Given the description of an element on the screen output the (x, y) to click on. 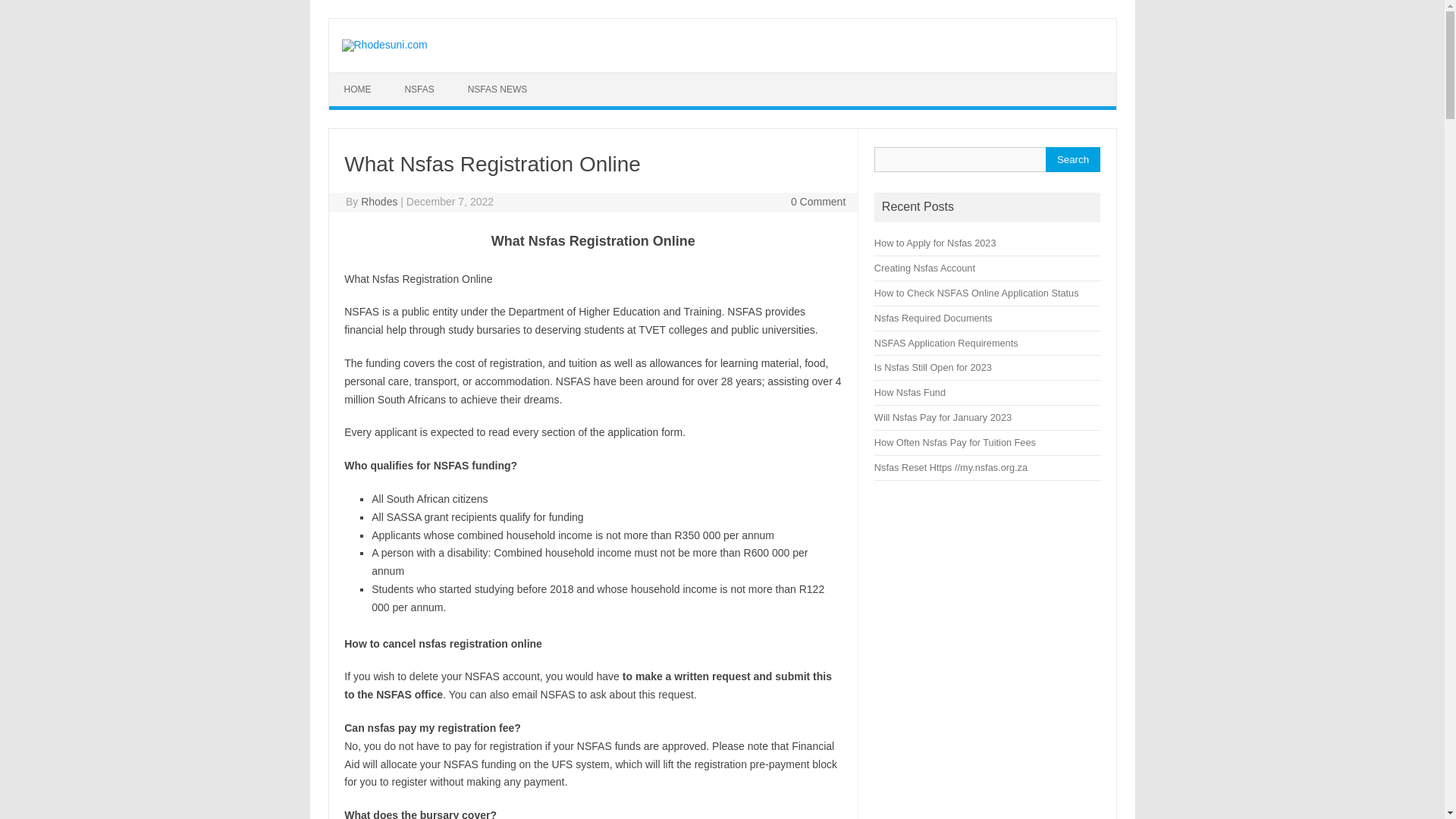
Rhodes (379, 201)
Rhodesuni.com (383, 44)
HOME (358, 89)
Search (1072, 159)
NSFAS (418, 89)
NSFAS NEWS (497, 89)
0 Comment (817, 201)
Posts by Rhodes (379, 201)
